Given the description of an element on the screen output the (x, y) to click on. 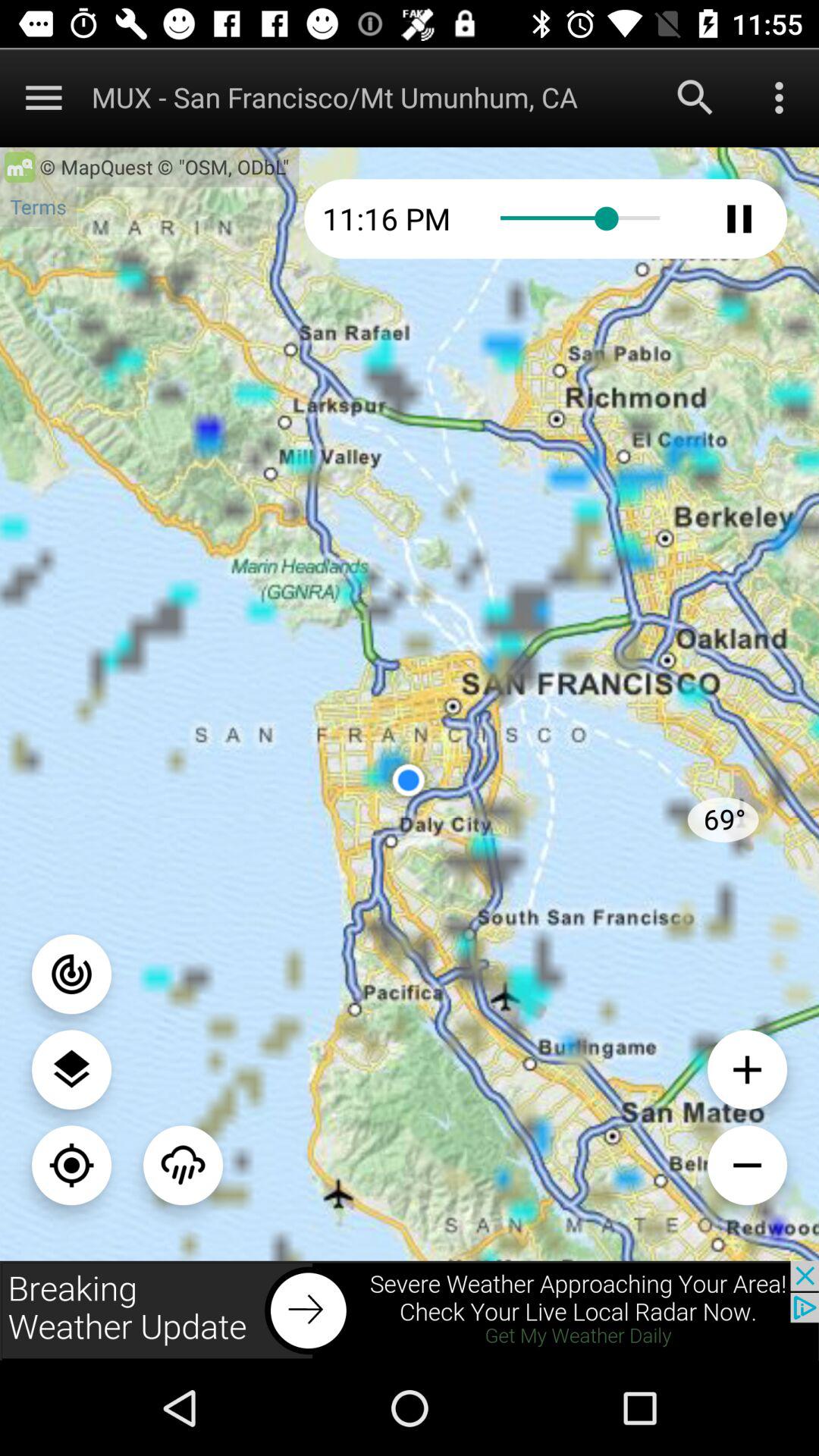
wheather update button (409, 1310)
